Given the description of an element on the screen output the (x, y) to click on. 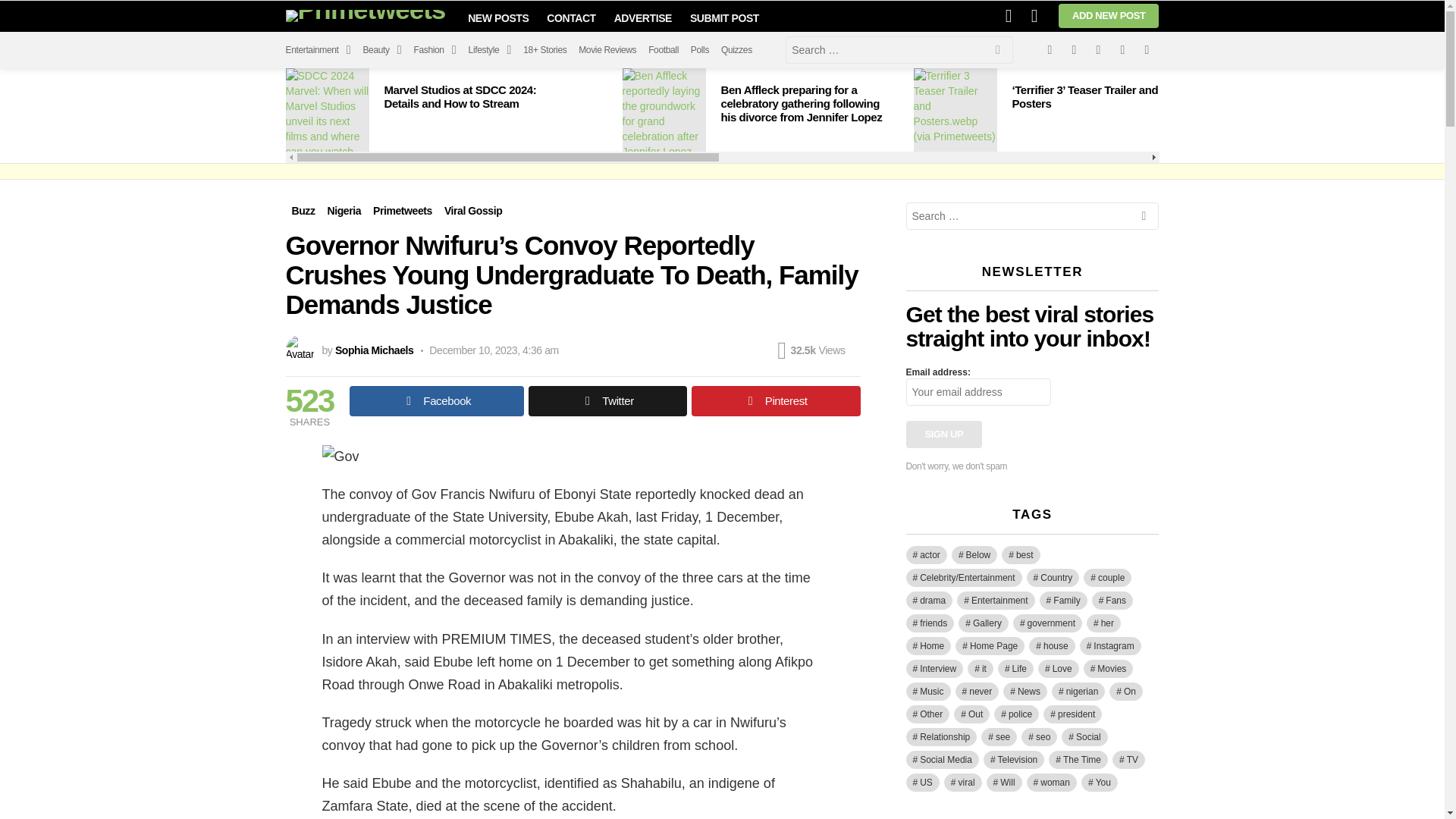
Fashion (435, 49)
Marvel Studios at SDCC 2024: Details and How to Stream (326, 109)
ADVERTISE (643, 16)
Beauty (381, 49)
Football (662, 49)
Lifestyle (490, 49)
CONTACT (570, 16)
SUBMIT POST (724, 16)
ADD NEW POST (1108, 15)
Search for: (899, 49)
NEW POSTS (497, 16)
